Given the description of an element on the screen output the (x, y) to click on. 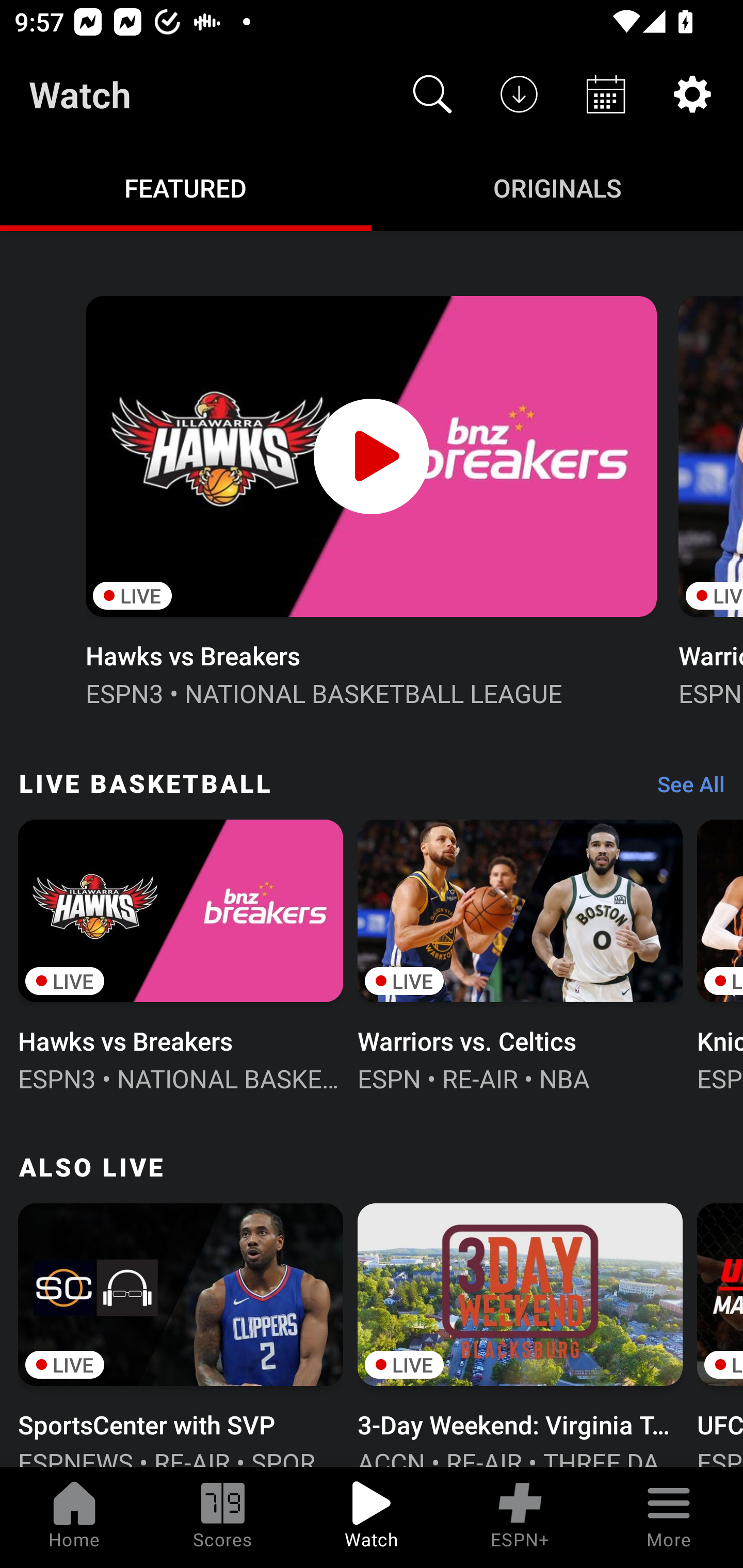
Search (432, 93)
Downloads (518, 93)
Schedule (605, 93)
Settings (692, 93)
Originals ORIGINALS (557, 187)
See All (683, 788)
LIVE Warriors vs. Celtics ESPN • RE-AIR • NBA (519, 954)
Home (74, 1517)
Scores (222, 1517)
ESPN+ (519, 1517)
More (668, 1517)
